Given the description of an element on the screen output the (x, y) to click on. 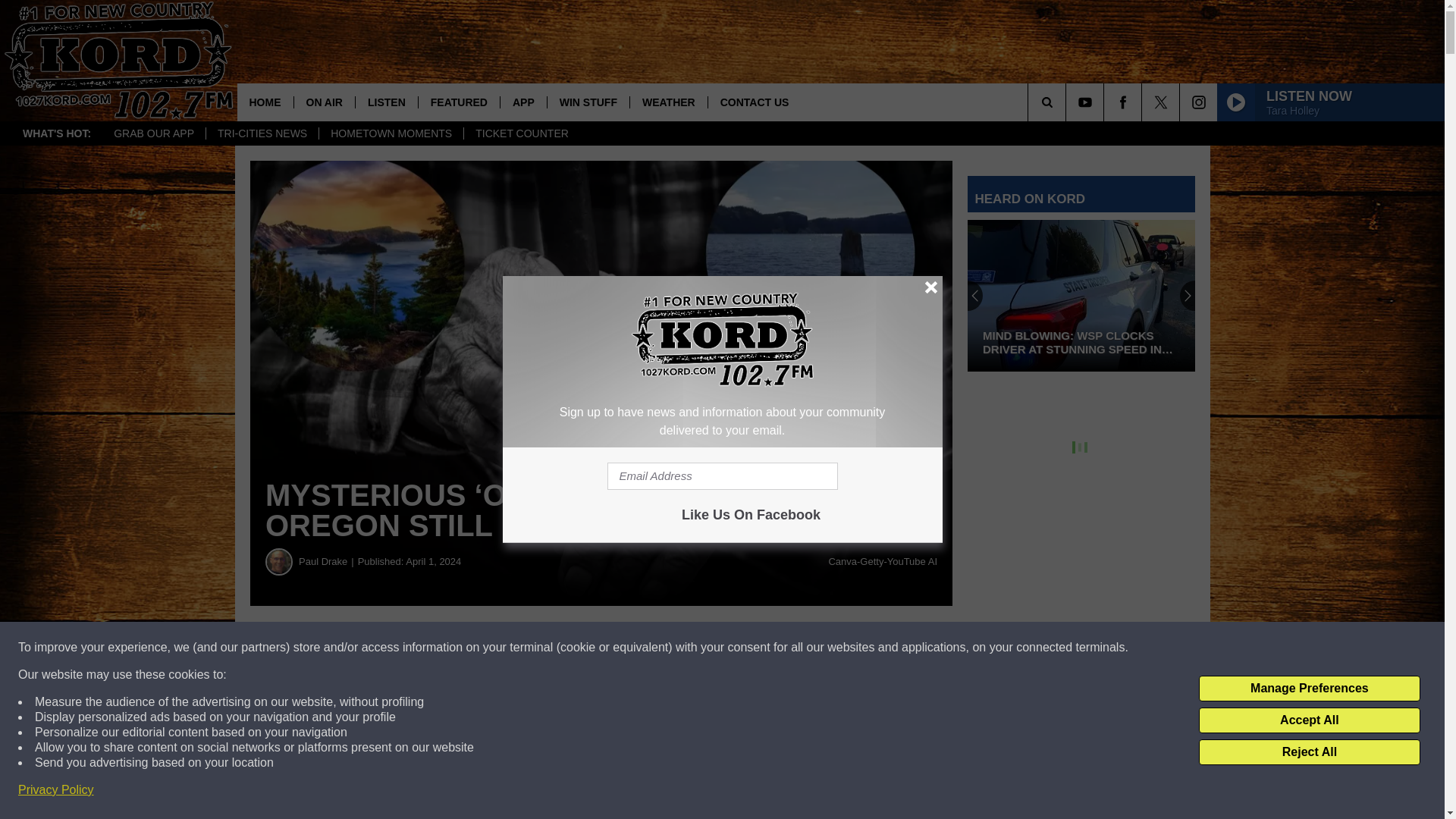
FEATURED (458, 102)
Email Address (722, 475)
Reject All (1309, 751)
GRAB OUR APP (153, 133)
Accept All (1309, 720)
LISTEN (386, 102)
HOME (263, 102)
TRI-CITIES NEWS (261, 133)
SEARCH (1068, 102)
ON AIR (322, 102)
HOMETOWN MOMENTS (390, 133)
Share on Twitter (741, 647)
Manage Preferences (1309, 688)
SEARCH (1068, 102)
TICKET COUNTER (521, 133)
